Given the description of an element on the screen output the (x, y) to click on. 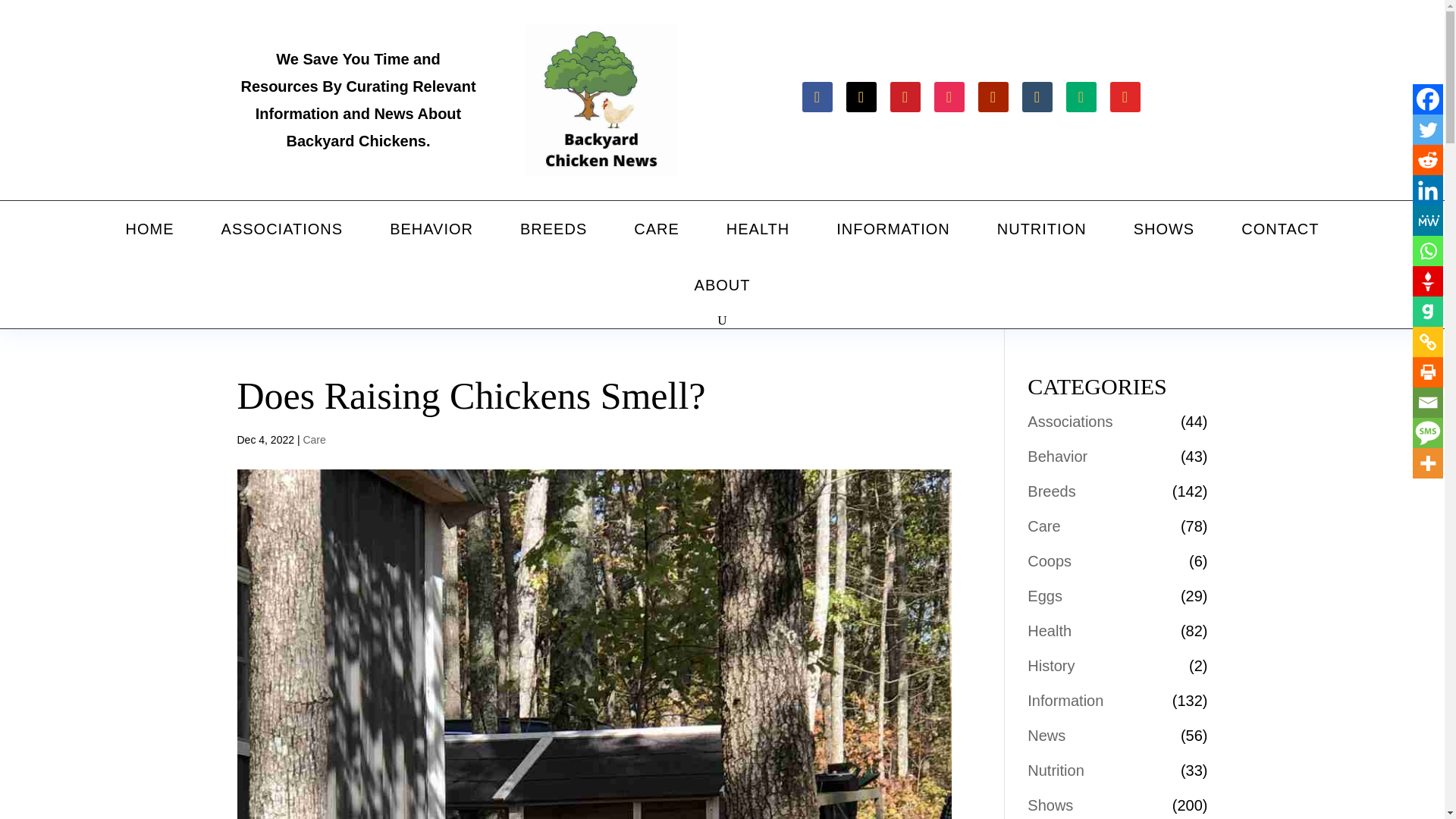
SHOWS (1163, 228)
ABOUT (722, 284)
CONTACT (1279, 228)
Follow on Instagram (948, 96)
INFORMATION (893, 228)
Follow on Medium (1080, 96)
HEALTH (758, 228)
Follow on FlipBoard (1124, 96)
Follow on X (860, 96)
BREEDS (553, 228)
